Given the description of an element on the screen output the (x, y) to click on. 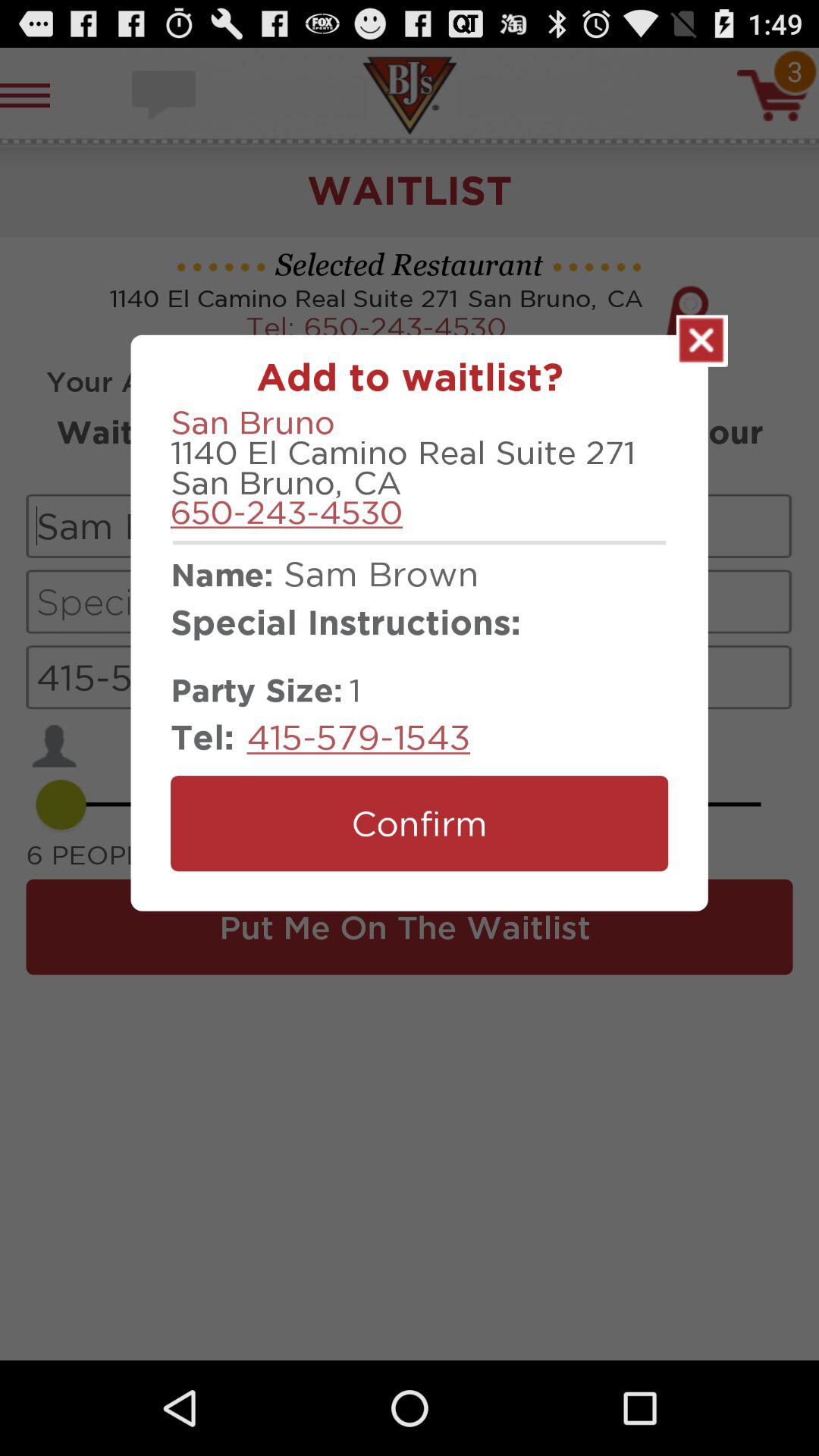
close the popup (702, 340)
